Given the description of an element on the screen output the (x, y) to click on. 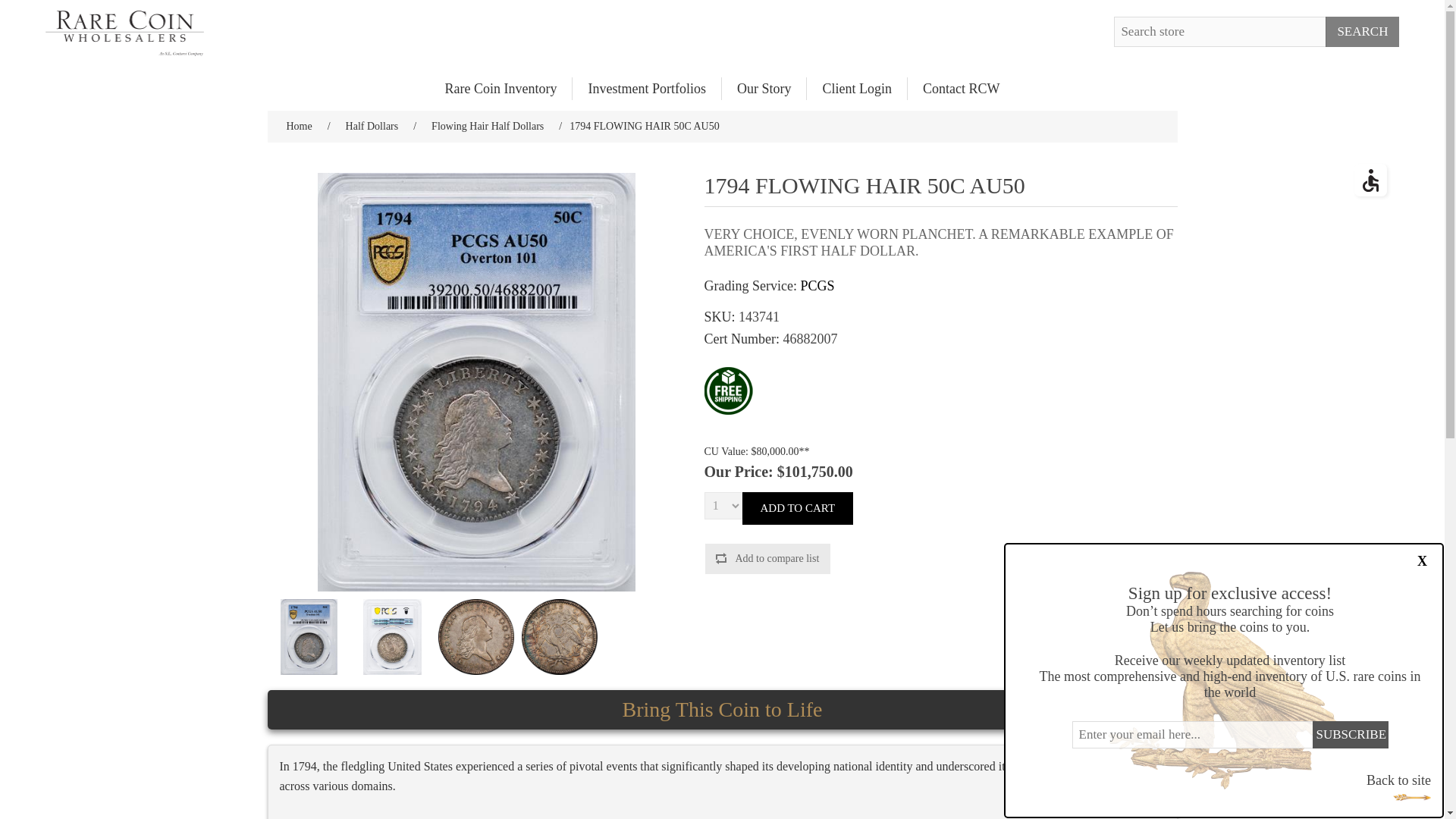
Picture of 1794 FLOWING HAIR 50C AU50  (308, 636)
Rare Coin Wholesalers (125, 33)
Subscribe (1349, 734)
Picture of 1794 FLOWING HAIR 50C AU50  (475, 636)
Picture of 1794 FLOWING HAIR 50C AU50  (309, 636)
Picture of 1794 FLOWING HAIR 50C AU50  (392, 636)
Picture of 1794 FLOWING HAIR 50C AU50  (475, 381)
arrow (1412, 796)
Search (1361, 31)
Picture of 1794 FLOWING HAIR 50C AU50  (391, 636)
Search (1361, 31)
Search (1361, 31)
Picture of 1794 FLOWING HAIR 50C AU50  (558, 636)
Add to compare list (767, 558)
Add to cart (797, 508)
